Given the description of an element on the screen output the (x, y) to click on. 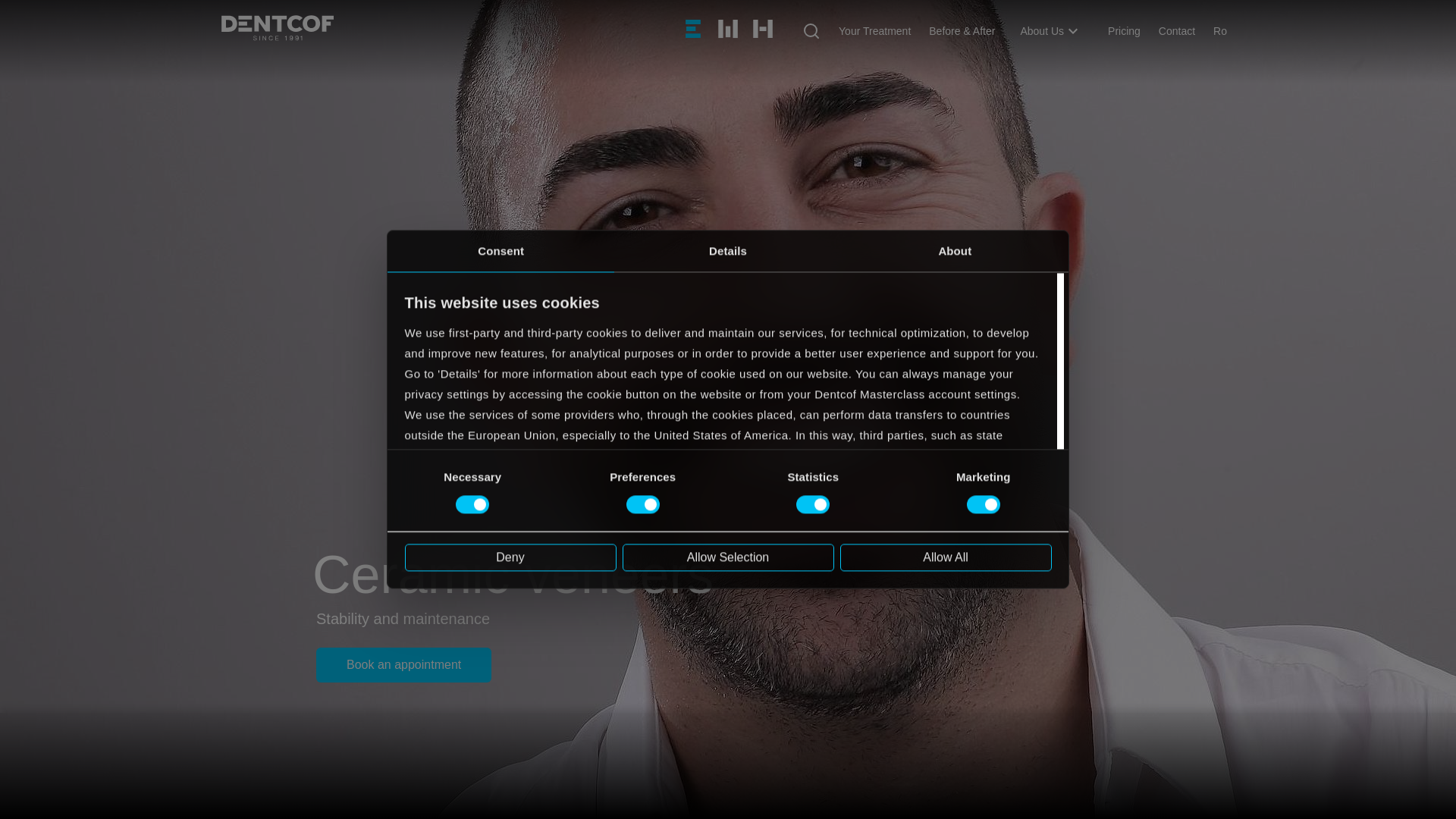
Allow All (945, 556)
Consent (500, 250)
About (954, 250)
Details (727, 250)
Deny (509, 556)
Allow Selection (726, 556)
Cookie Policy (441, 536)
